Given the description of an element on the screen output the (x, y) to click on. 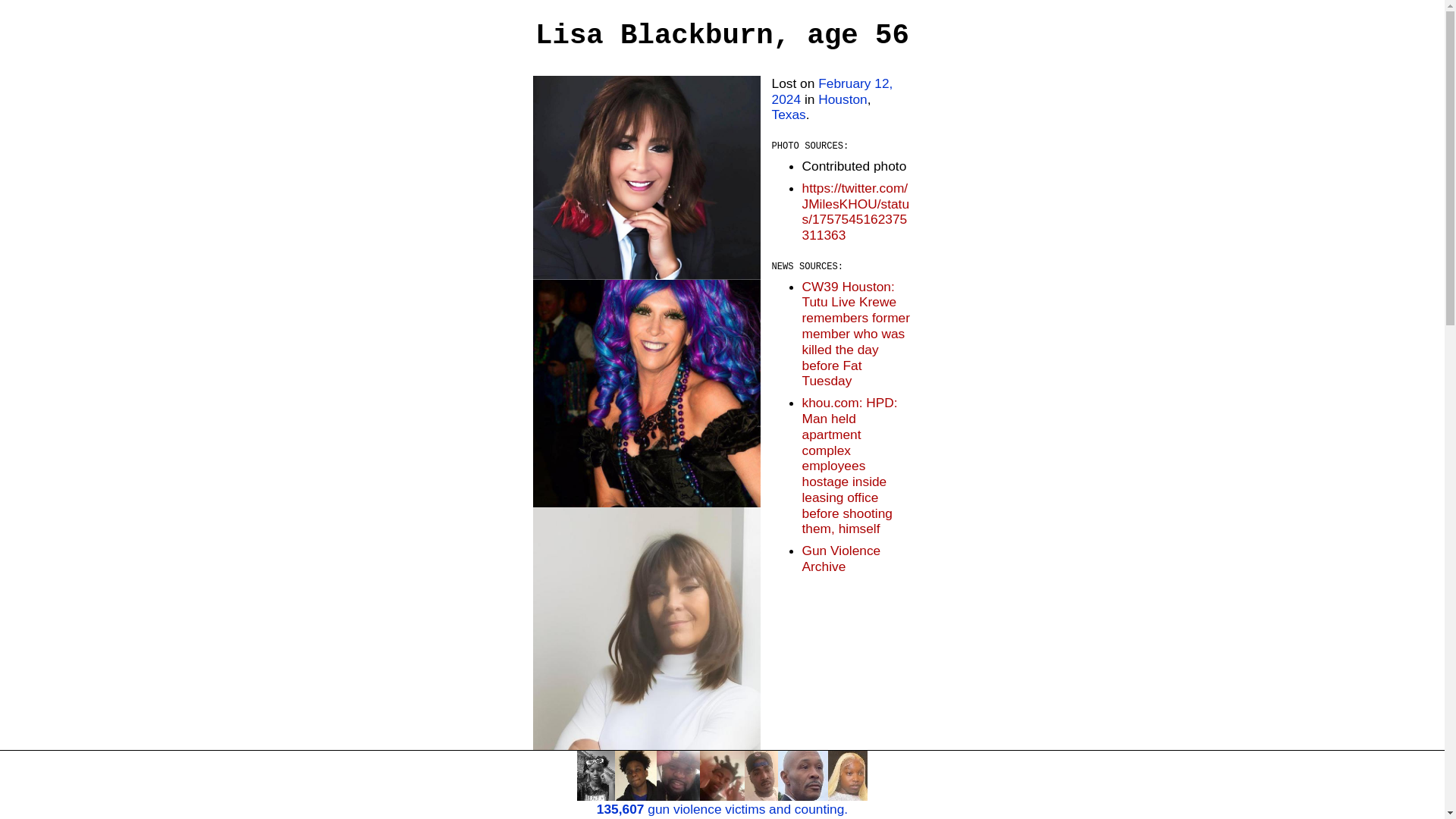
February 12, 2024 (832, 91)
Gun Violence Archive (841, 558)
Texas (788, 114)
Houston (842, 99)
